Given the description of an element on the screen output the (x, y) to click on. 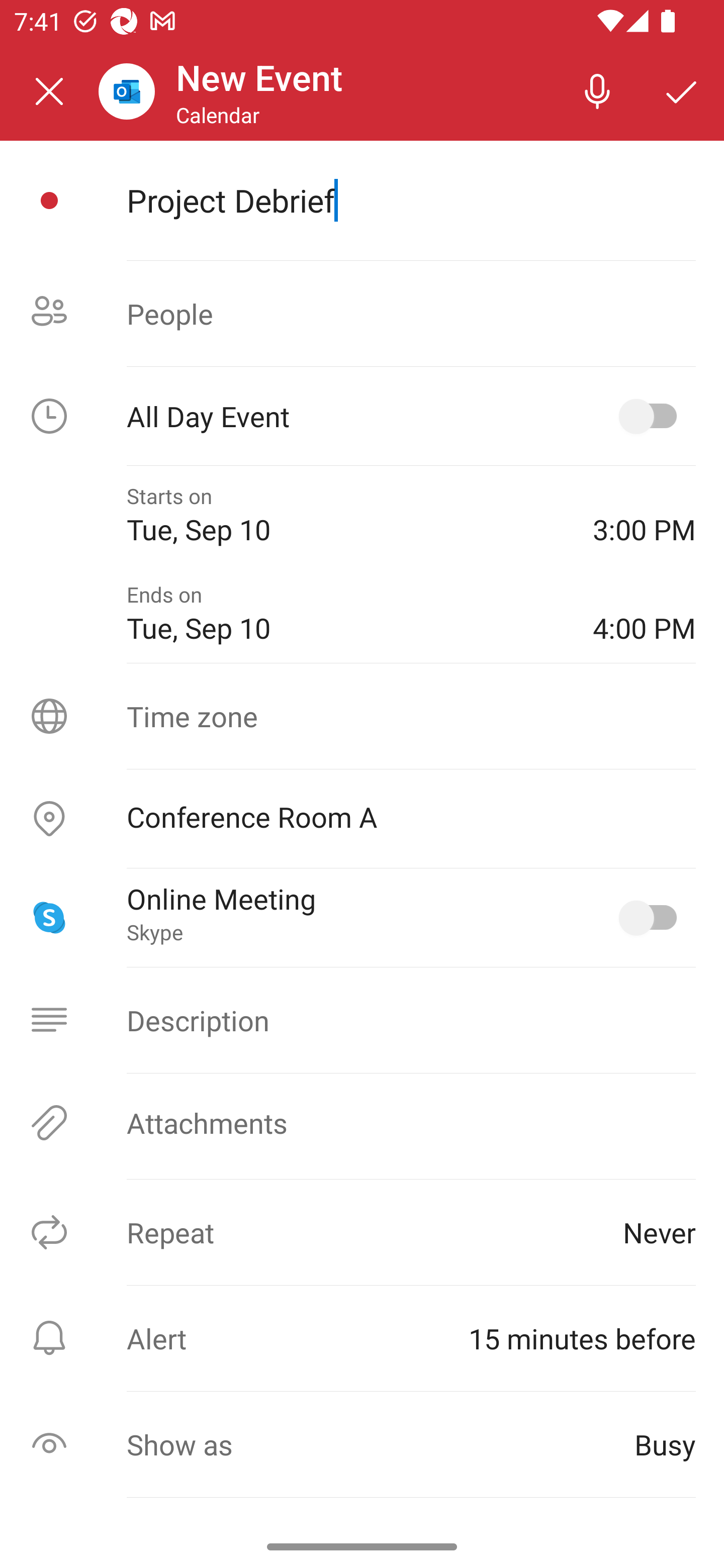
Close (49, 91)
Save (681, 90)
Project Debrief (410, 200)
Event icon picker (48, 200)
People (362, 313)
All Day Event (362, 415)
Starts on Tue, Sep 10 (345, 514)
3:00 PM (644, 514)
Ends on Tue, Sep 10 (345, 613)
4:00 PM (644, 613)
Time zone (362, 715)
Location, Conference Room A Conference Room A (362, 818)
Online Meeting, Skype selected (651, 917)
Description (362, 1019)
Attachments (362, 1122)
Repeat Never (362, 1232)
Alert ⁨15 minutes before (362, 1337)
Show as Busy (362, 1444)
